Given the description of an element on the screen output the (x, y) to click on. 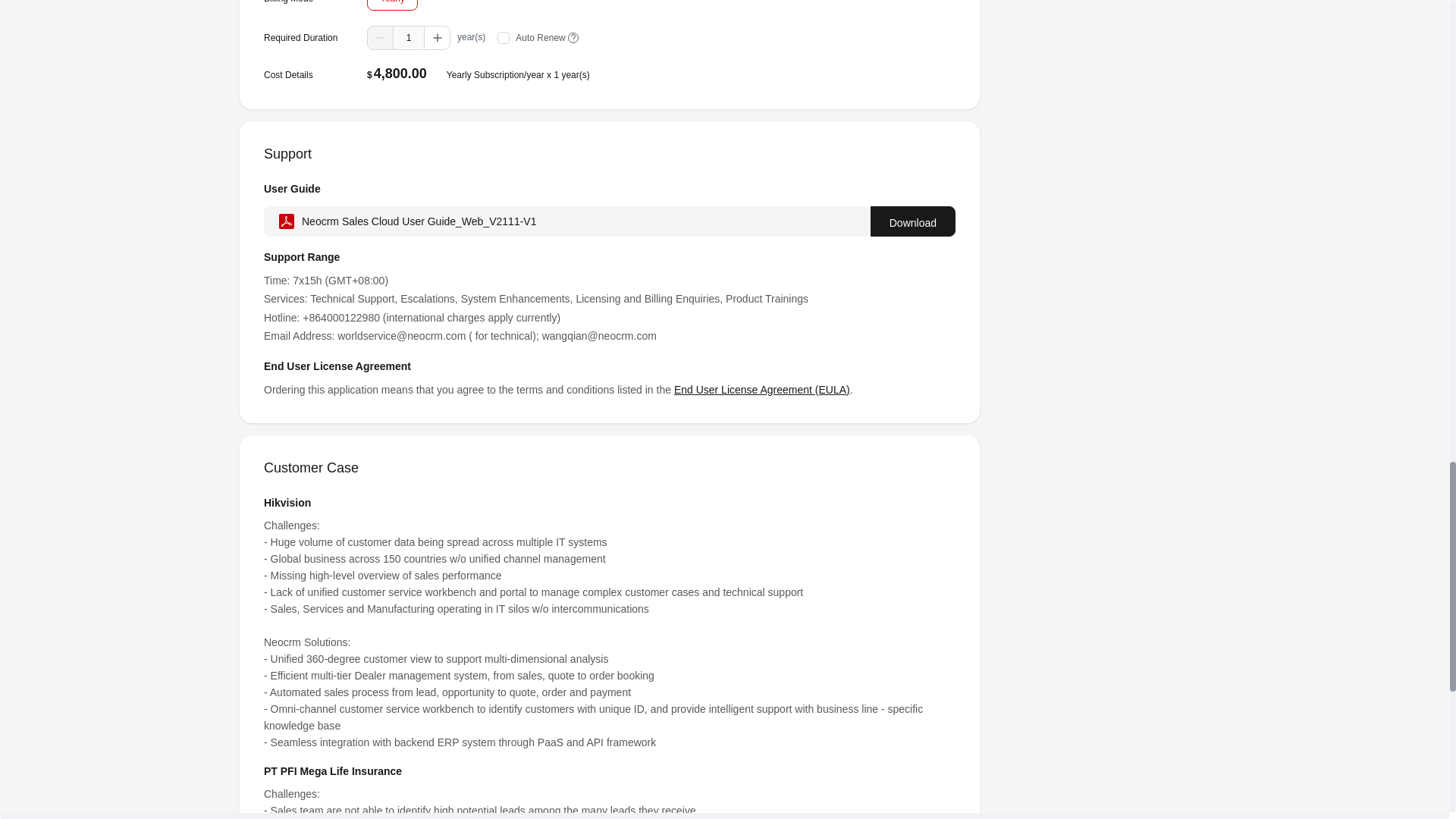
1 (408, 37)
